Given the description of an element on the screen output the (x, y) to click on. 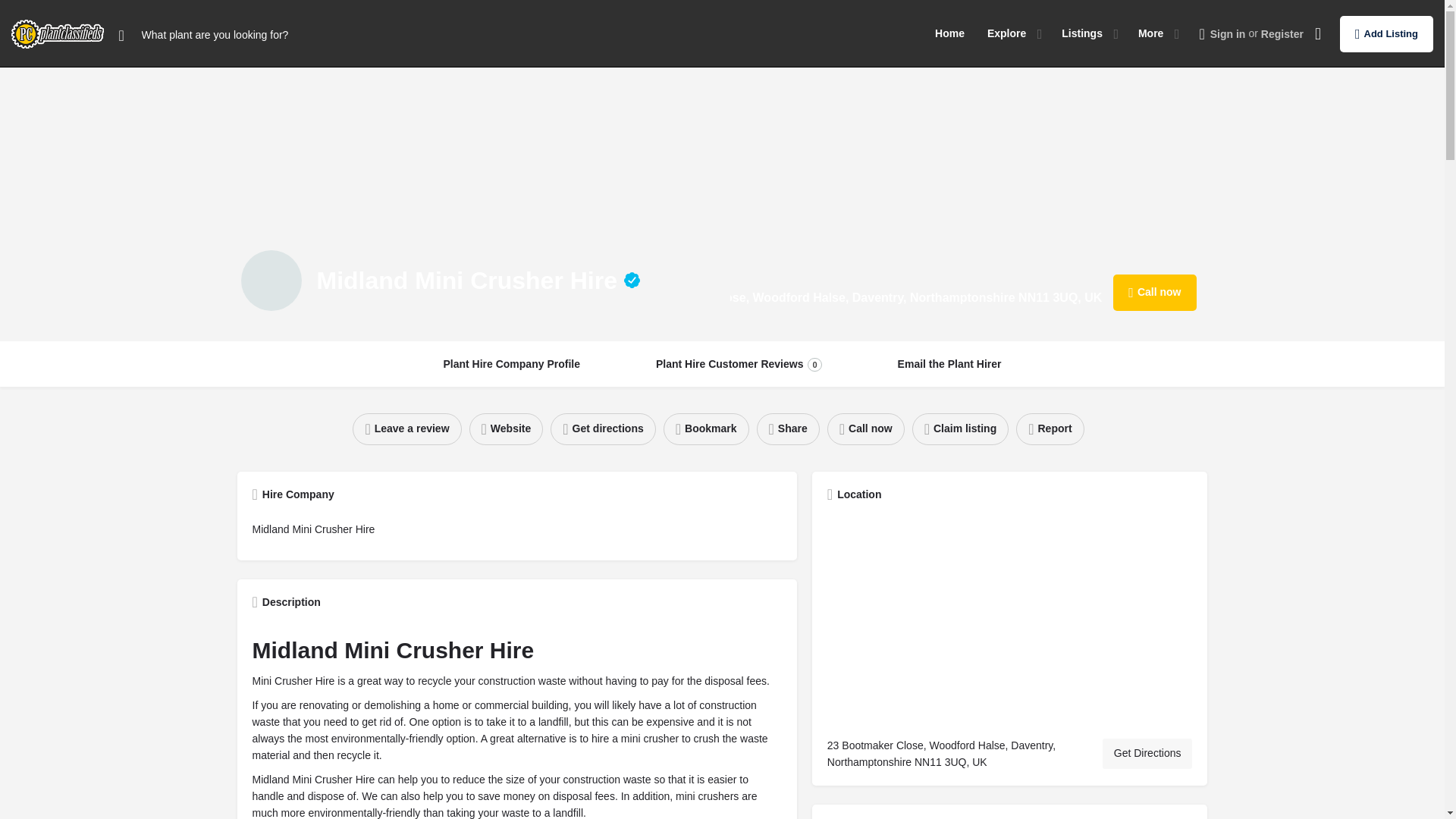
Call now (1154, 292)
Listings (1081, 32)
More (1150, 32)
Home (948, 32)
Plant Hire Company Profile (510, 364)
Midland Mini Crusher Hire (738, 364)
Email the Plant Hirer (271, 280)
Explore (949, 364)
Add Listing (1006, 32)
